Given the description of an element on the screen output the (x, y) to click on. 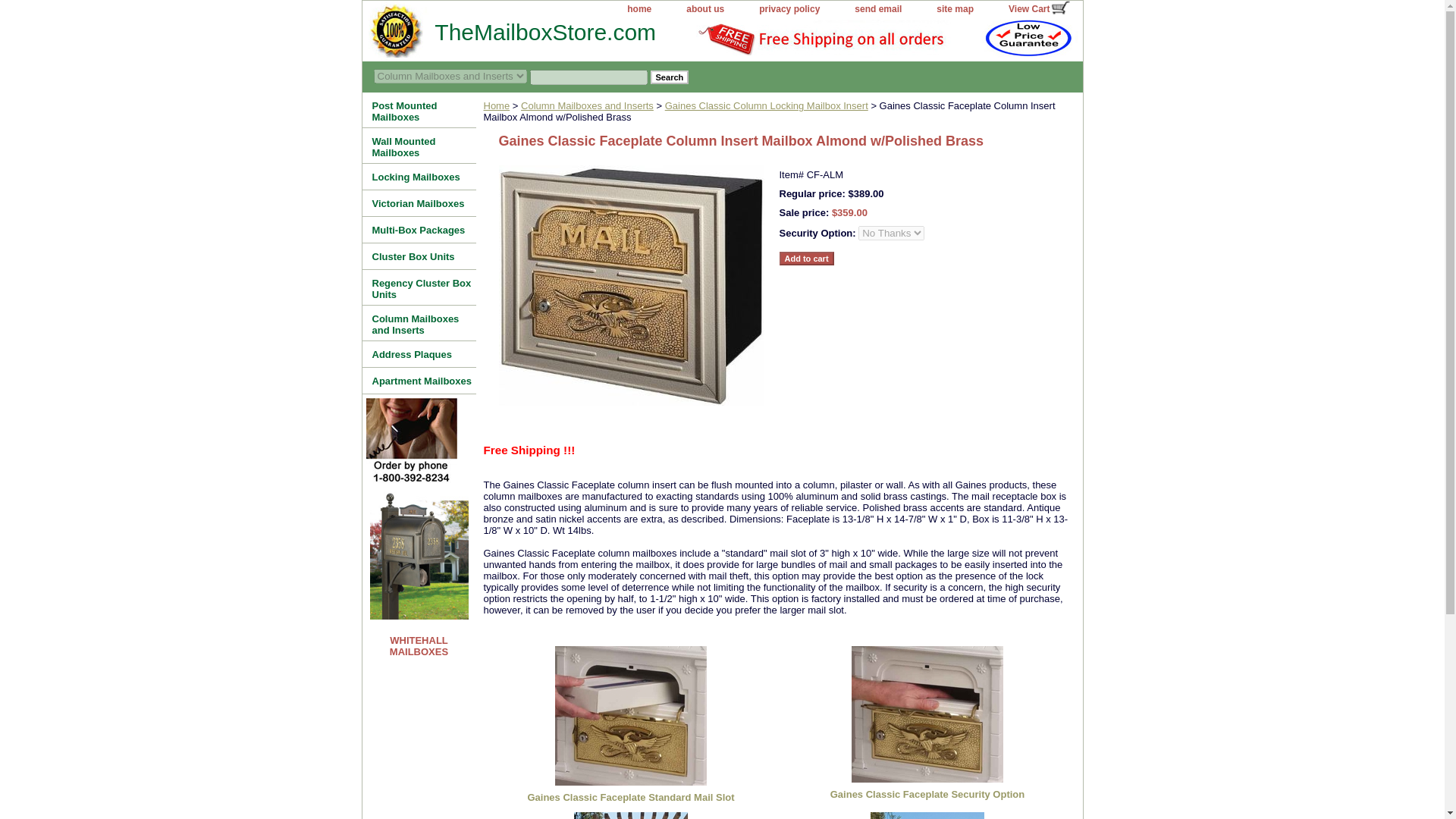
Wall Mounted Mailboxes (419, 145)
Search (669, 77)
Search (669, 77)
Gaines Classic Faceplate Security Option (927, 714)
Column Mailboxes and Inserts (587, 105)
Post Mounted  Mailboxes (419, 109)
Apartment Mailboxes (419, 380)
Gaines Classic Faceplate Standard Mail Slot (630, 715)
Gaines Classic Column Locking Mailbox Insert (766, 105)
Locking Mailboxes (419, 176)
about us (705, 9)
Column Mailboxes and Inserts (419, 323)
Victorian Mailboxes (419, 203)
Regency Cluster Box Units (419, 287)
Regency Cluster Box Units (419, 287)
